Given the description of an element on the screen output the (x, y) to click on. 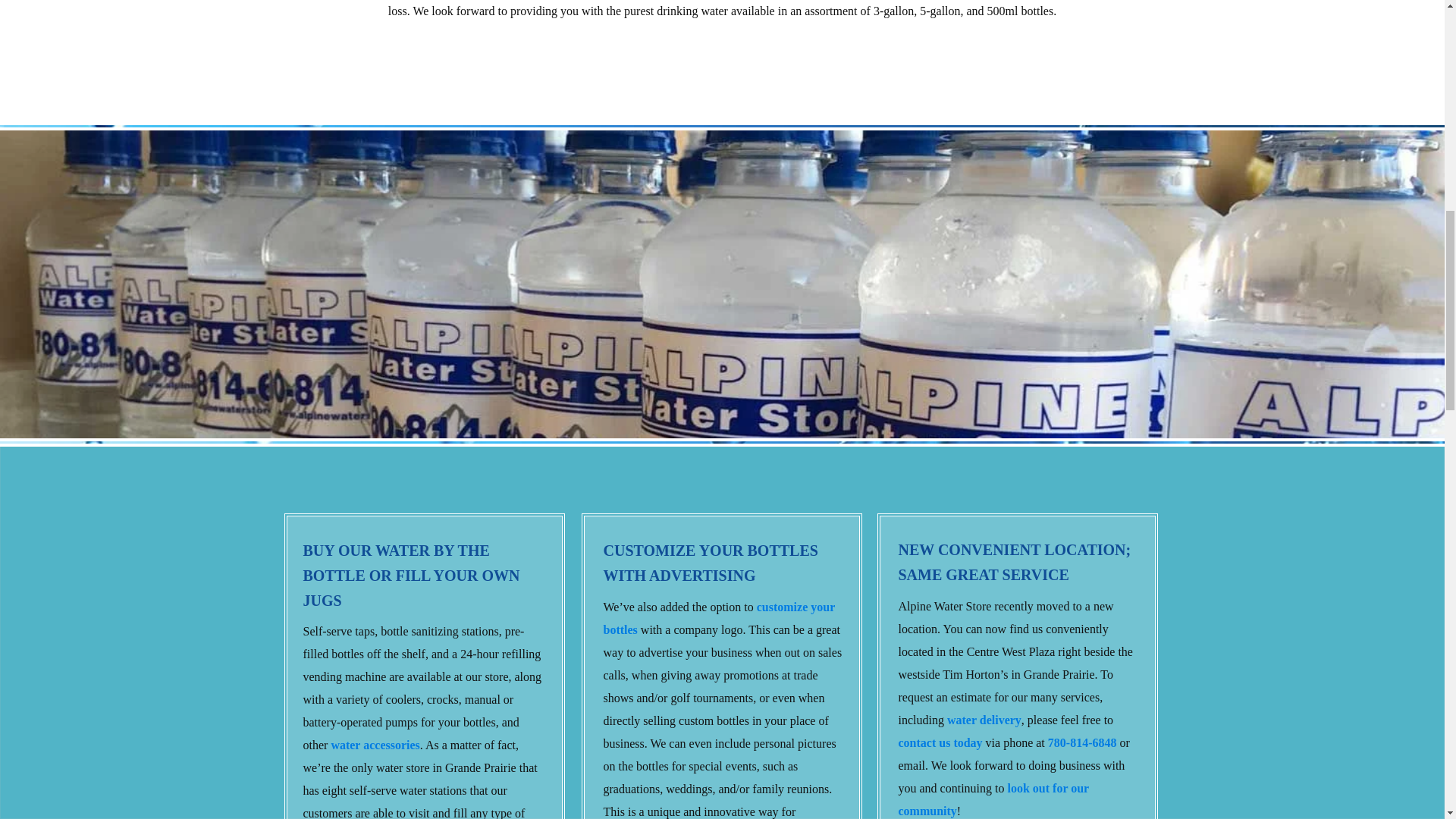
water accessories (374, 746)
water delivery (984, 721)
contact us today (939, 744)
customize your bottles (719, 619)
look out for our community (992, 800)
780-814-6848 (1082, 744)
